Given the description of an element on the screen output the (x, y) to click on. 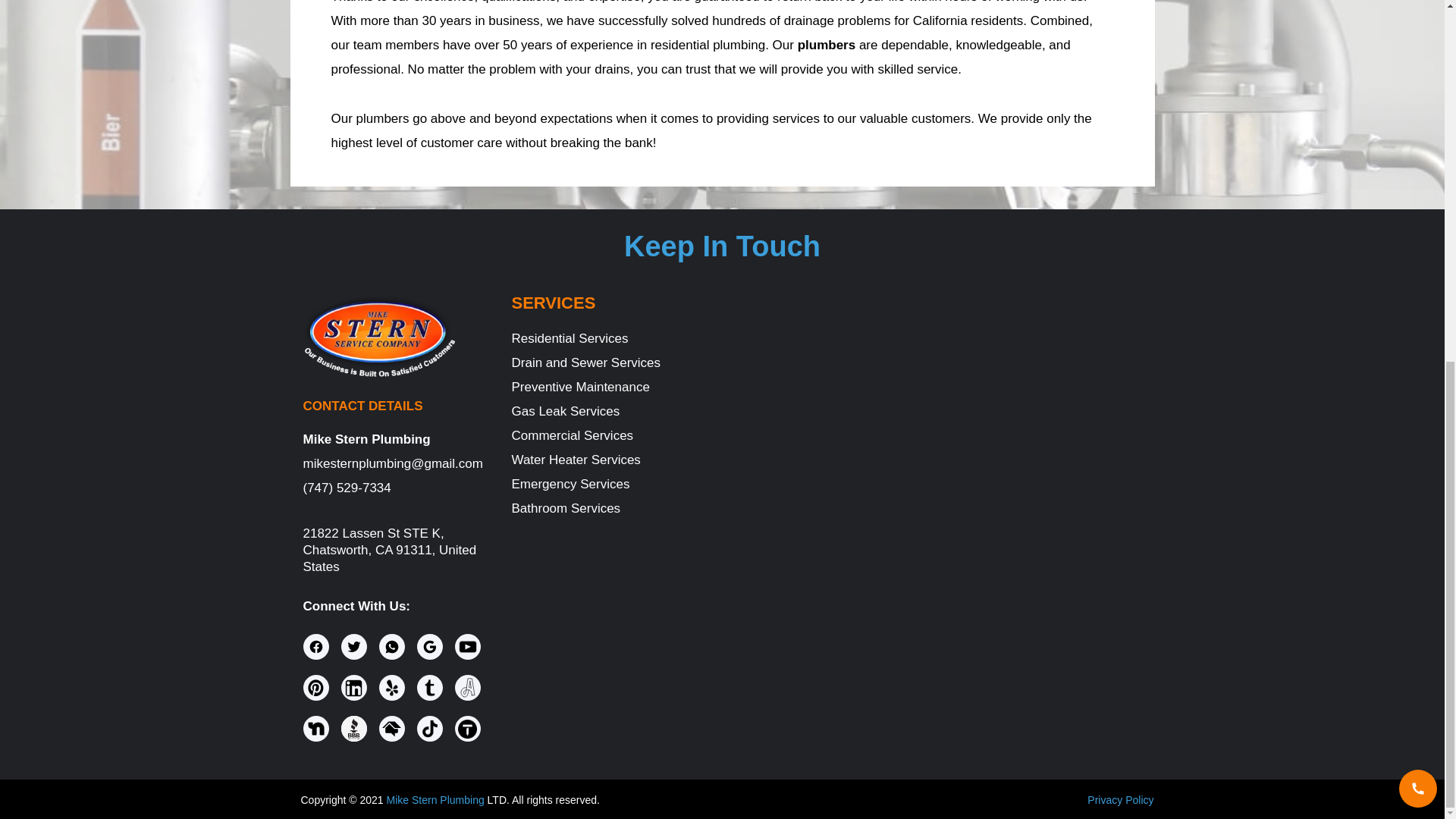
Mike Stern Plumbing (400, 439)
